Given the description of an element on the screen output the (x, y) to click on. 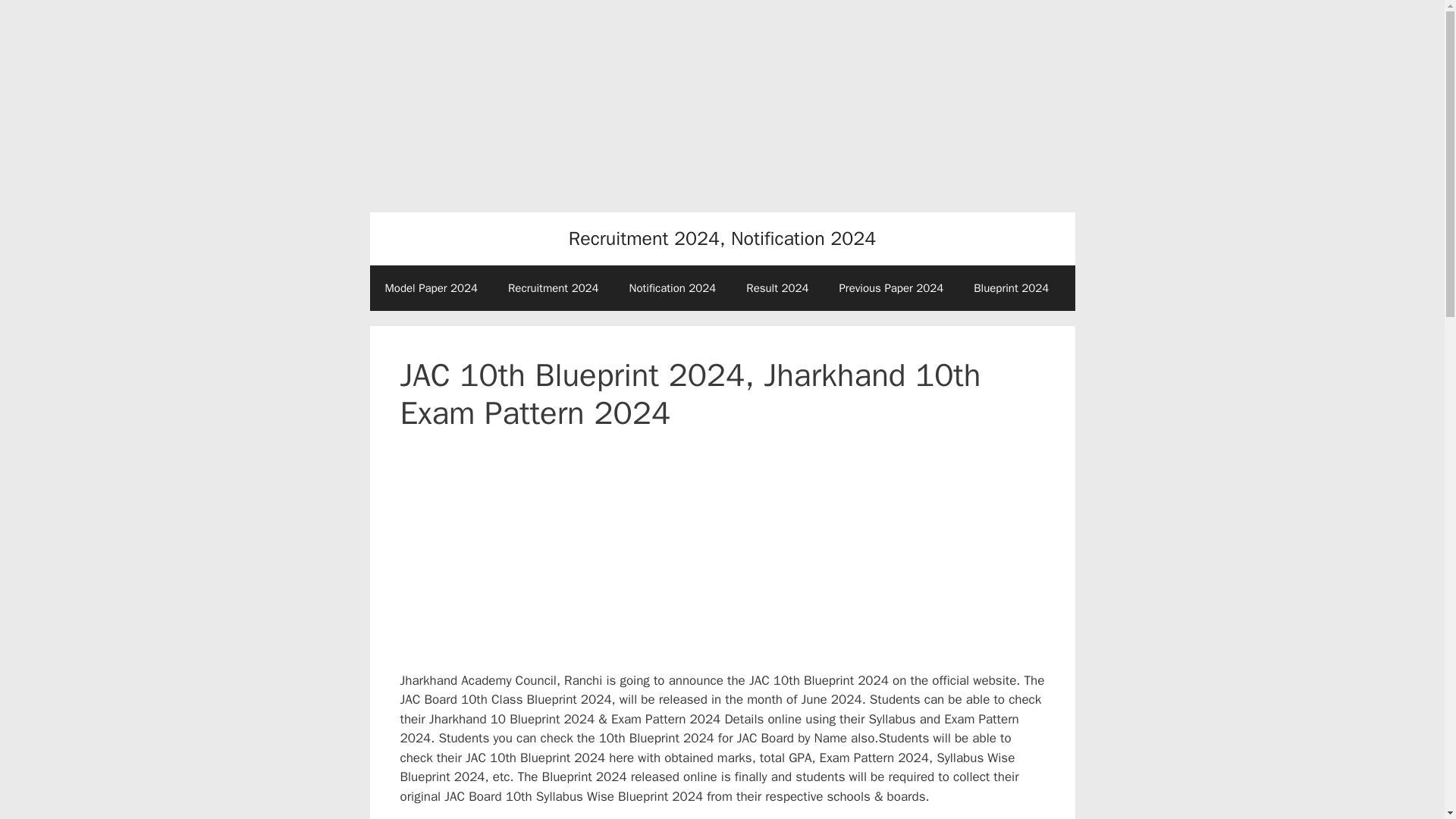
Model Paper 2024 (431, 288)
Blueprint 2024 (1011, 288)
Result 2024 (777, 288)
Recruitment 2024 (553, 288)
Notification 2024 (673, 288)
Previous Paper 2024 (891, 288)
Recruitment 2024, Notification 2024 (722, 238)
